Given the description of an element on the screen output the (x, y) to click on. 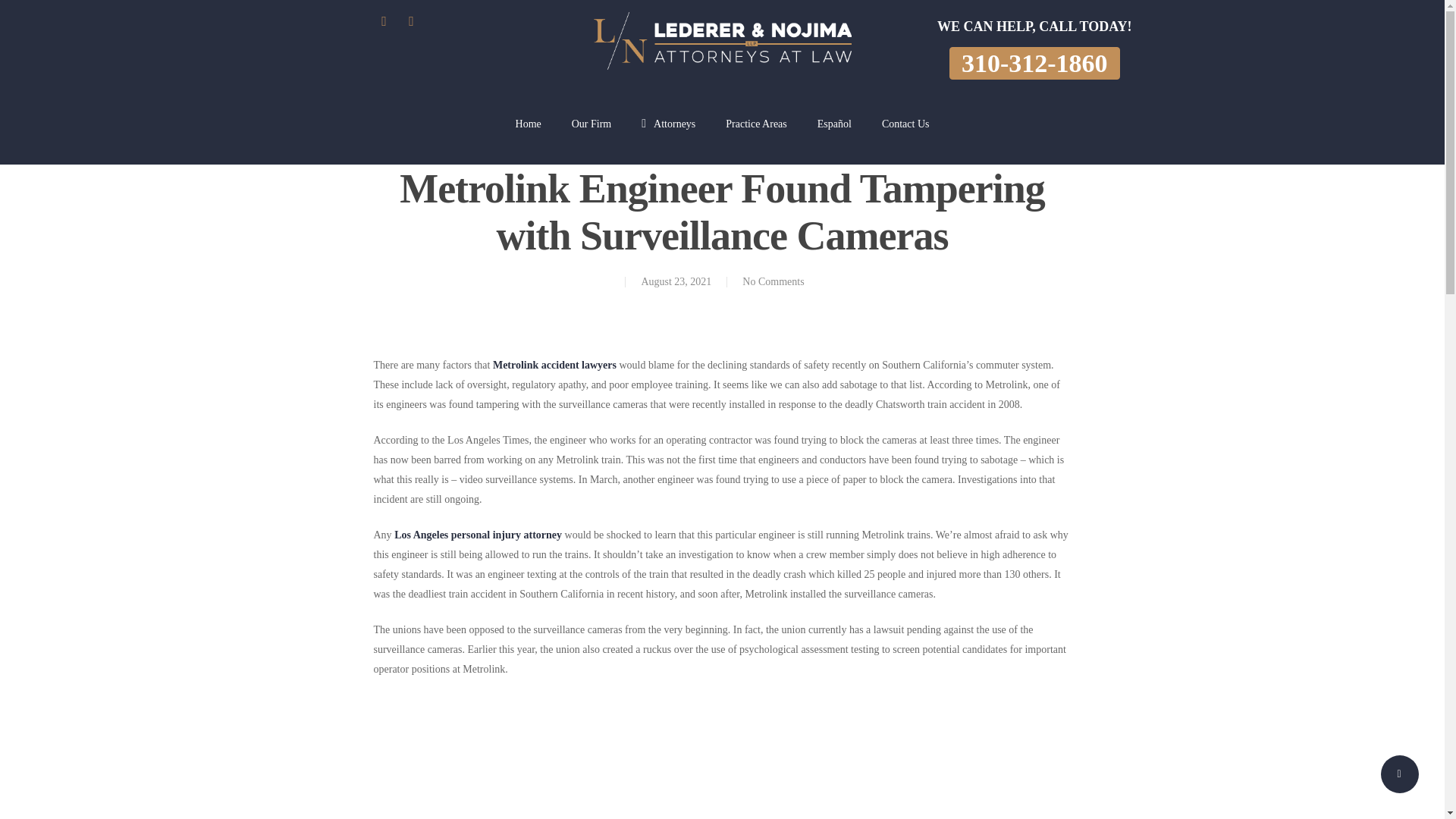
Metrolink accident lawyers (554, 365)
Practice Areas (755, 135)
Los Angeles Personal Injury Lawyers (478, 534)
Blog (724, 136)
310-312-1860 (1034, 62)
Attorneys (668, 135)
Los Angeles Train Accident Attorneys (554, 365)
Contact Us (906, 135)
Our Firm (591, 135)
No Comments (772, 281)
